Given the description of an element on the screen output the (x, y) to click on. 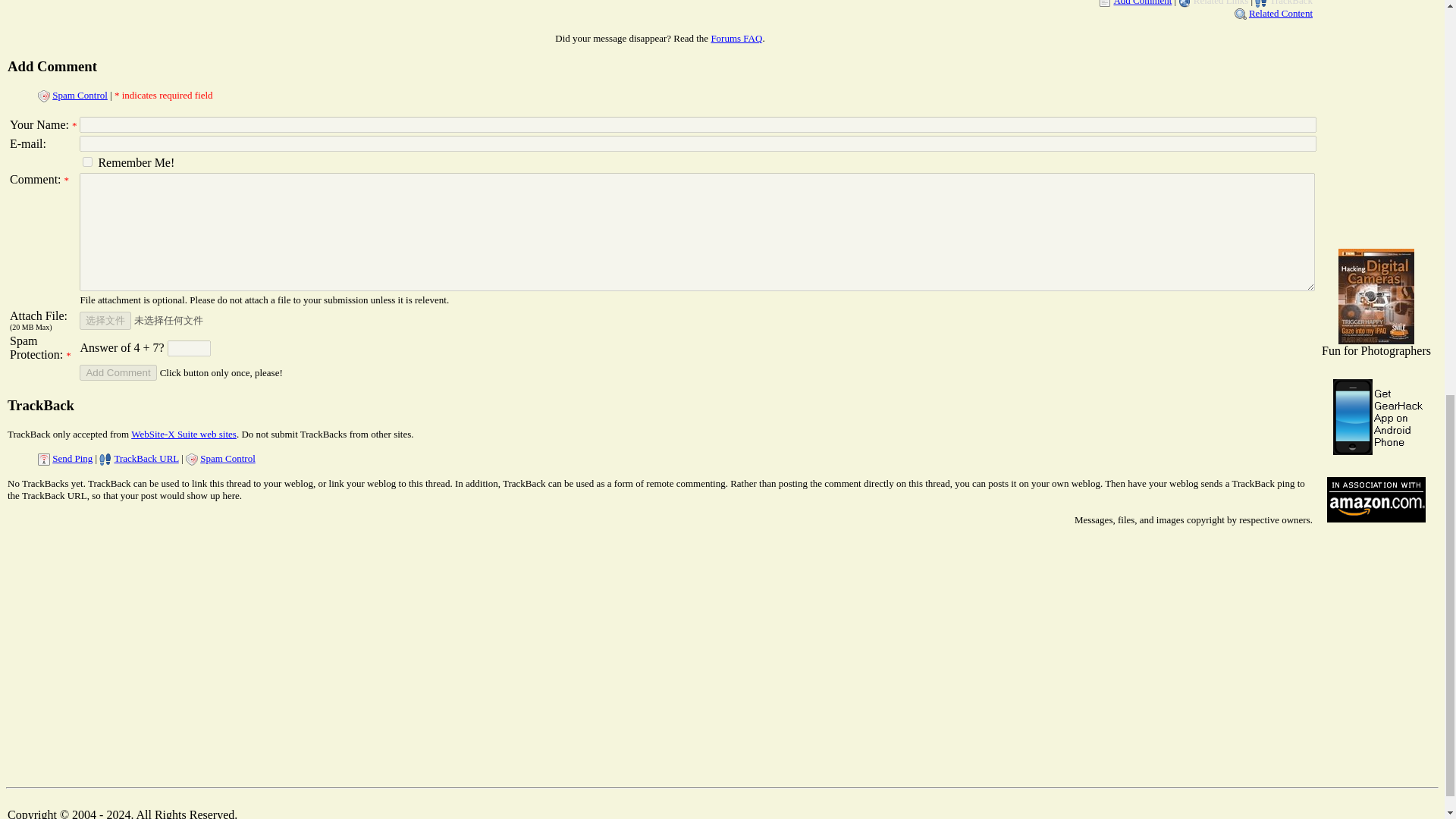
Spam Control (79, 94)
WebSite-X Suite web sites (183, 433)
TrackBack (40, 405)
TrackBack URL (145, 458)
Add Comment (52, 66)
Send Ping (72, 458)
Add Comment (117, 372)
Add Comment (1142, 2)
Related Content (1281, 12)
yes (87, 162)
Add Comment (117, 372)
Forums FAQ (735, 38)
Spam Control (228, 458)
